Given the description of an element on the screen output the (x, y) to click on. 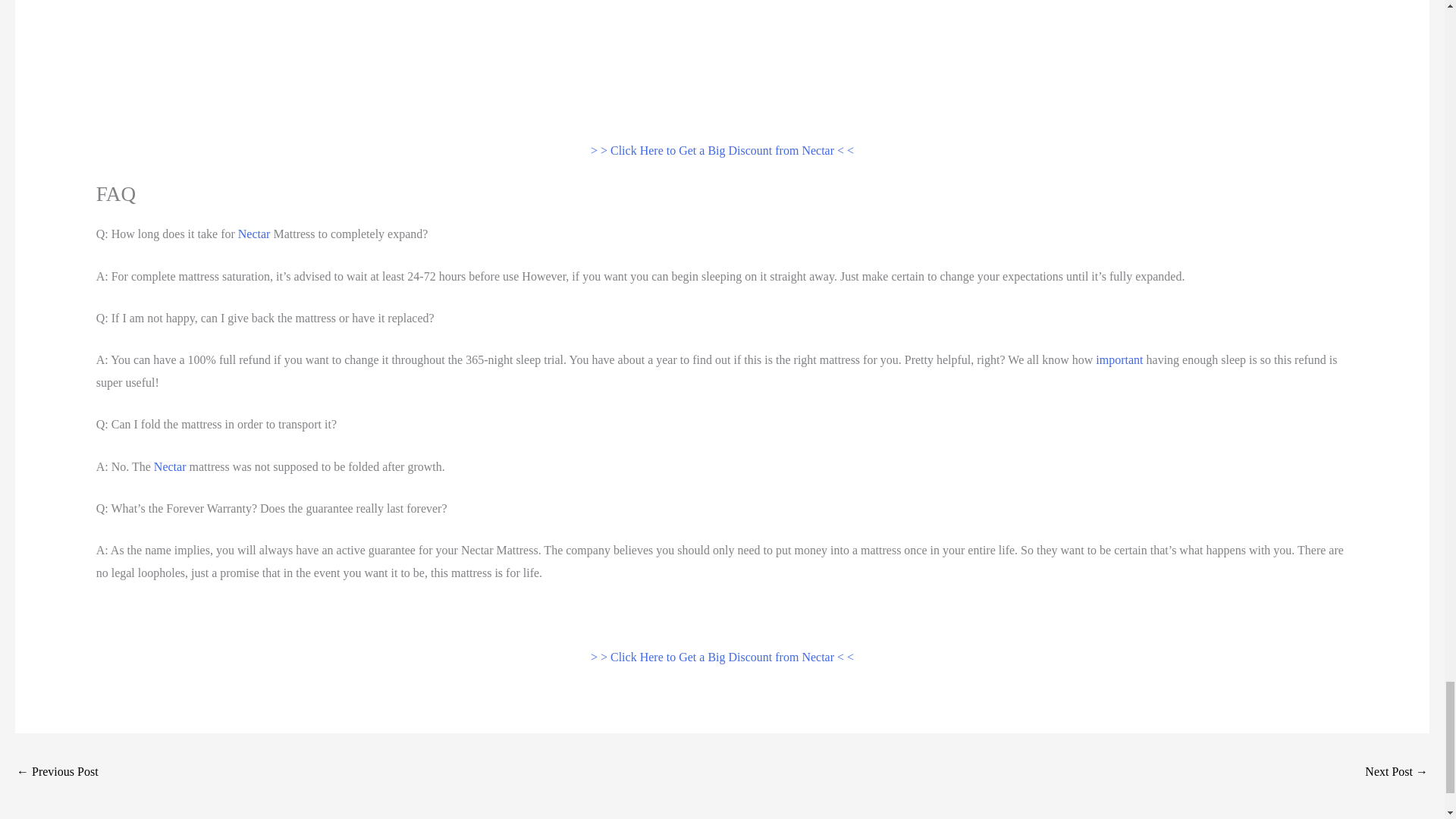
Nectar (170, 466)
Nectar Mattress Referral Program (57, 773)
Nectar (254, 233)
Nectar Sleep Return My Mattress (1396, 773)
important (1119, 359)
